Given the description of an element on the screen output the (x, y) to click on. 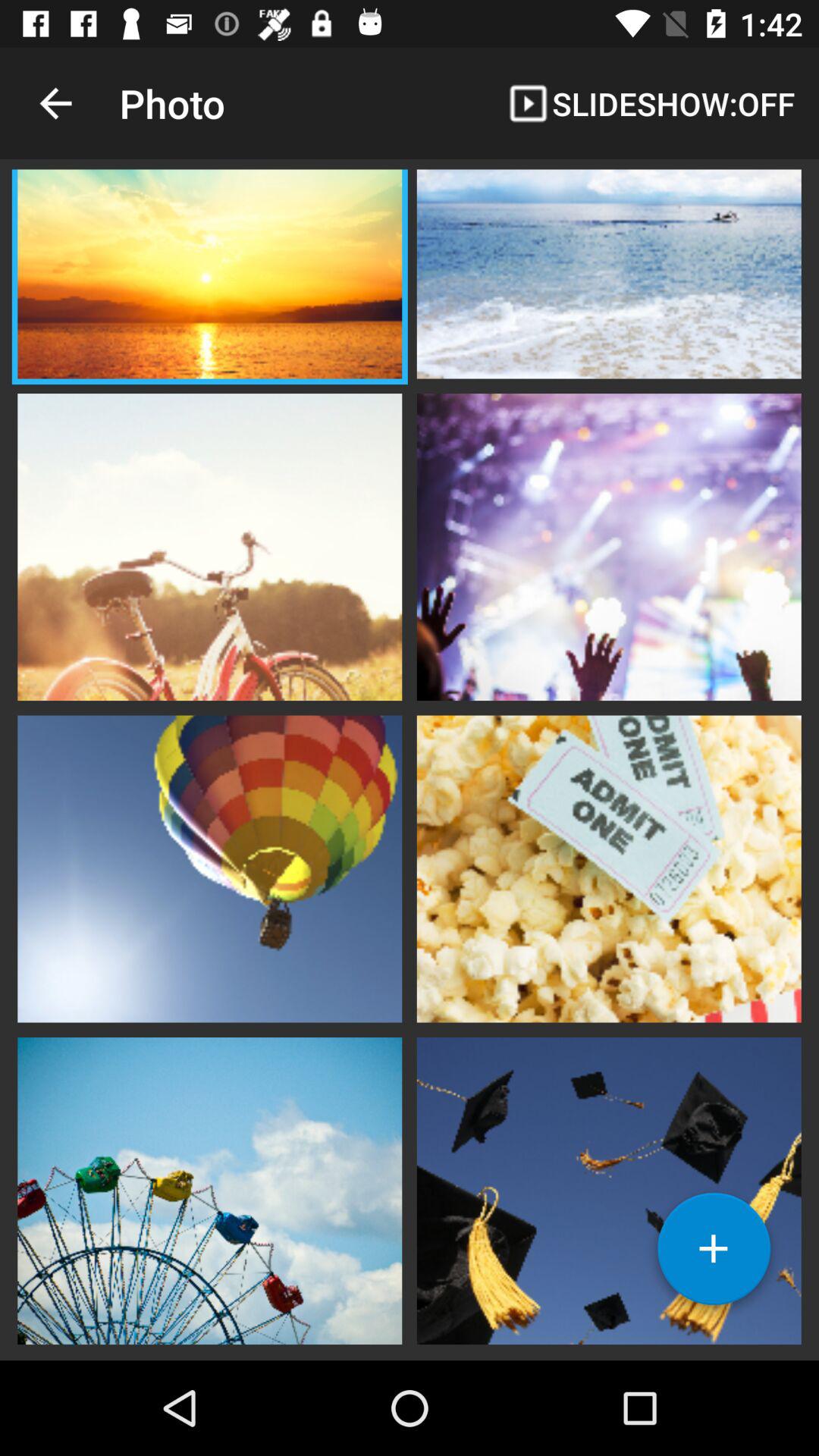
photograph choice (609, 545)
